Given the description of an element on the screen output the (x, y) to click on. 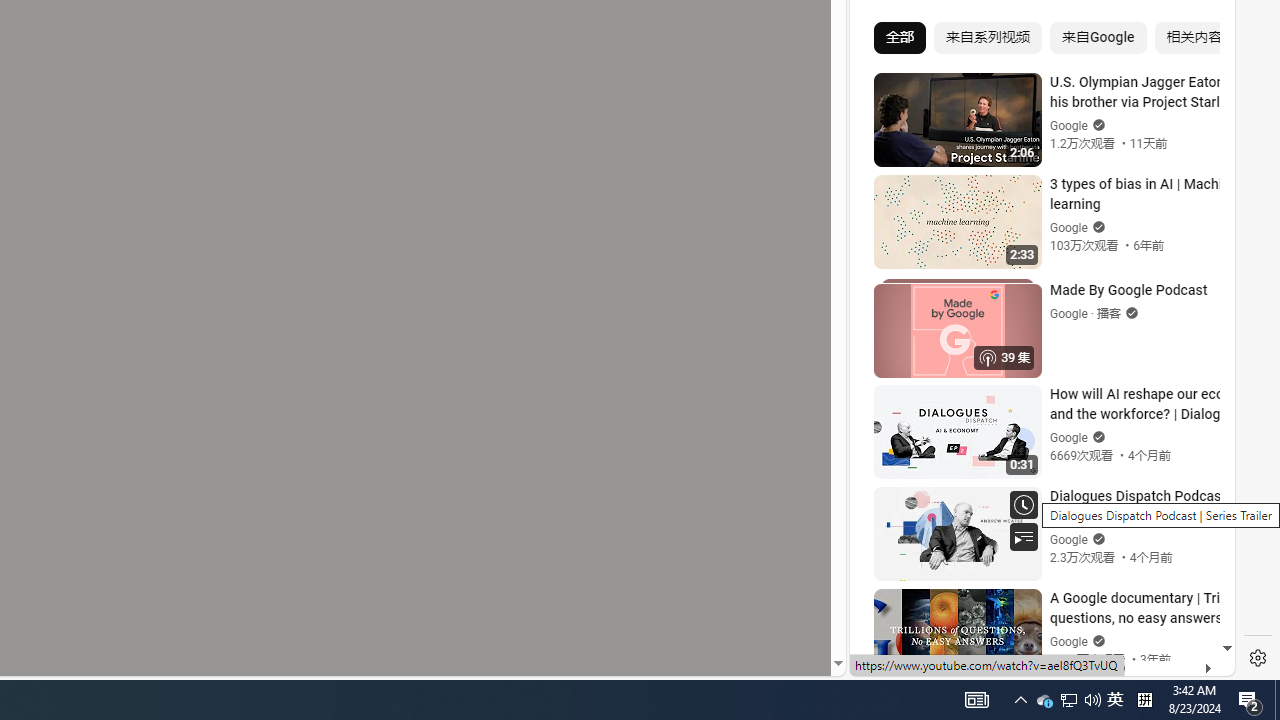
Click to scroll right (1196, 83)
YouTube - YouTube (1034, 266)
